Given the description of an element on the screen output the (x, y) to click on. 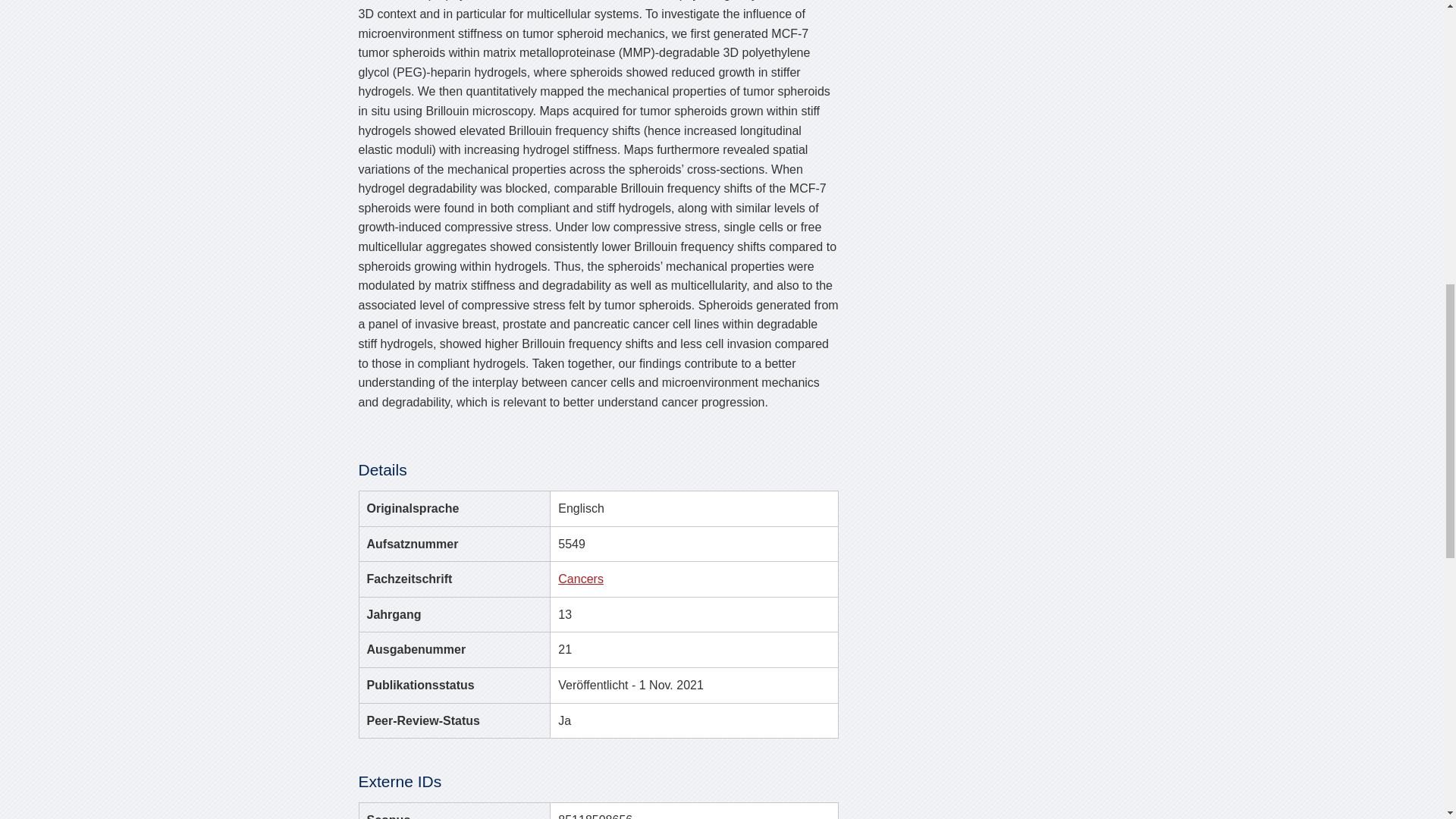
Cancers (580, 578)
